Given the description of an element on the screen output the (x, y) to click on. 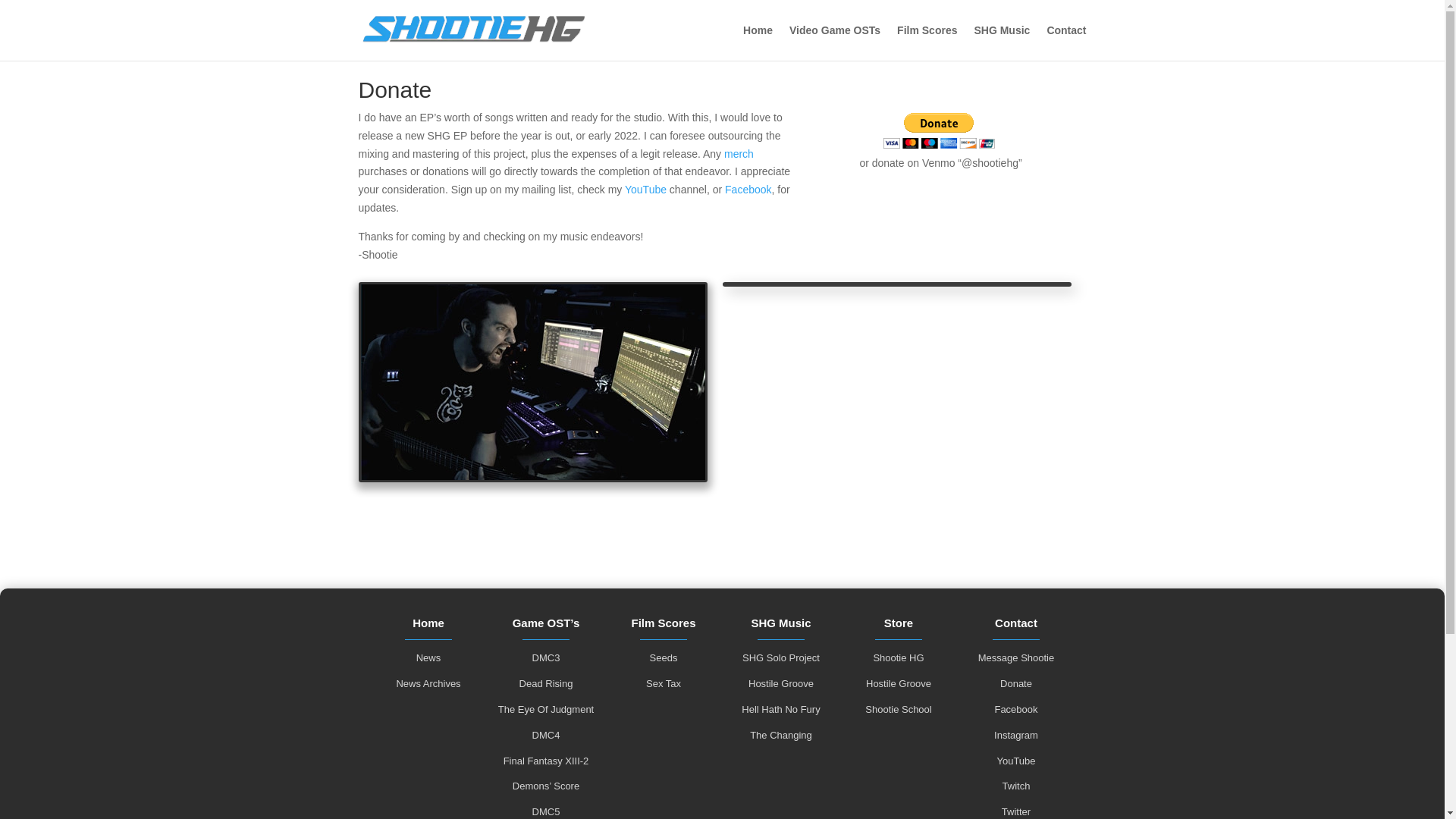
Film Scores (926, 42)
YouTube (645, 189)
Facebook (748, 189)
PayPal - The safer, easier way to pay online! (938, 130)
merch (738, 153)
SHG Music (1001, 42)
Video Game OSTs (834, 42)
Contact (1066, 42)
